Given the description of an element on the screen output the (x, y) to click on. 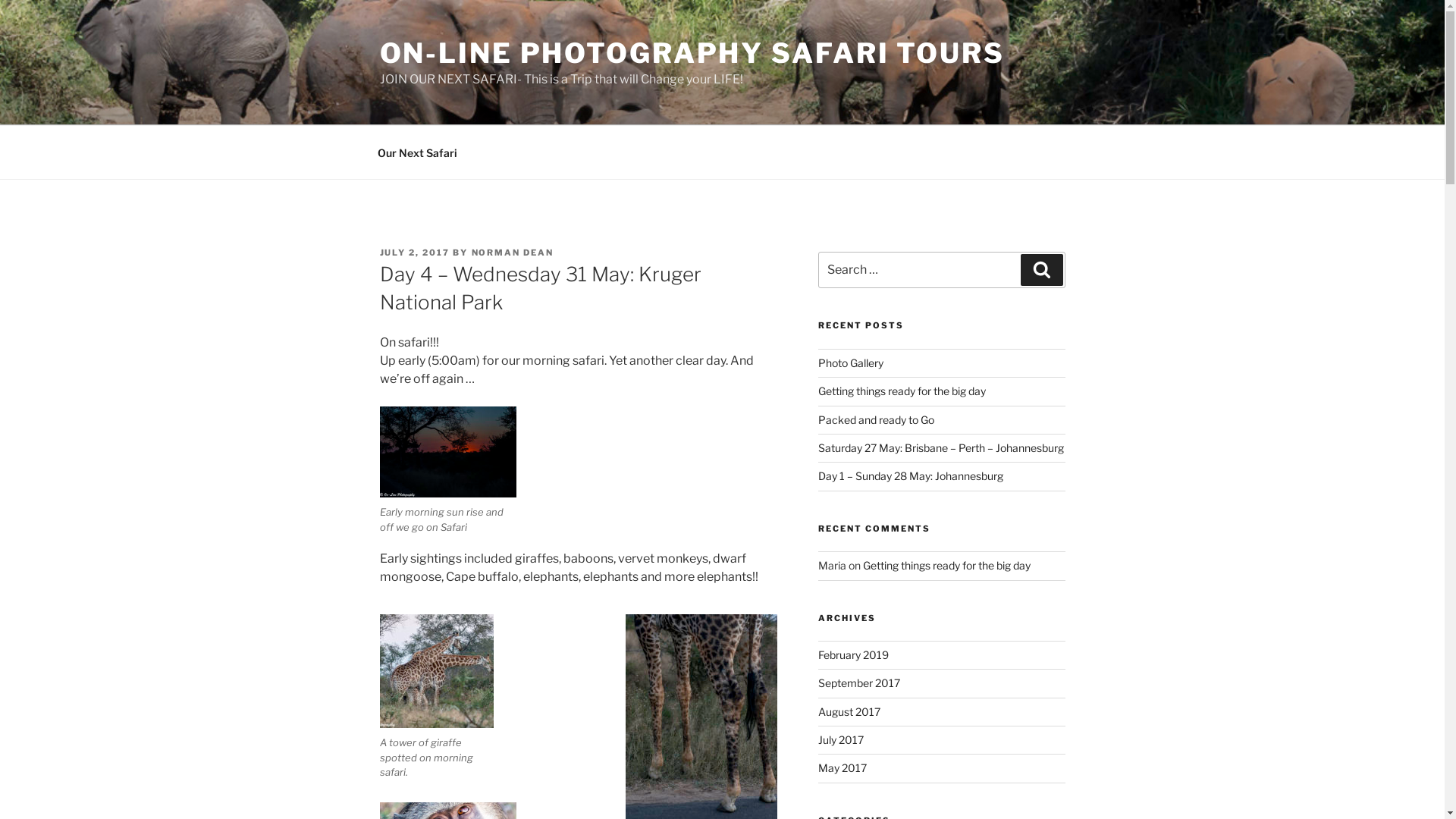
September 2017 Element type: text (859, 682)
Packed and ready to Go Element type: text (876, 419)
February 2019 Element type: text (853, 654)
NORMAN DEAN Element type: text (512, 252)
August 2017 Element type: text (849, 711)
Getting things ready for the big day Element type: text (901, 390)
July 2017 Element type: text (840, 739)
Photo Gallery Element type: text (850, 362)
May 2017 Element type: text (842, 767)
Our Next Safari Element type: text (417, 151)
JULY 2, 2017 Element type: text (414, 252)
Search Element type: text (1041, 269)
ON-LINE PHOTOGRAPHY SAFARI TOURS Element type: text (691, 52)
Getting things ready for the big day Element type: text (946, 564)
